Given the description of an element on the screen output the (x, y) to click on. 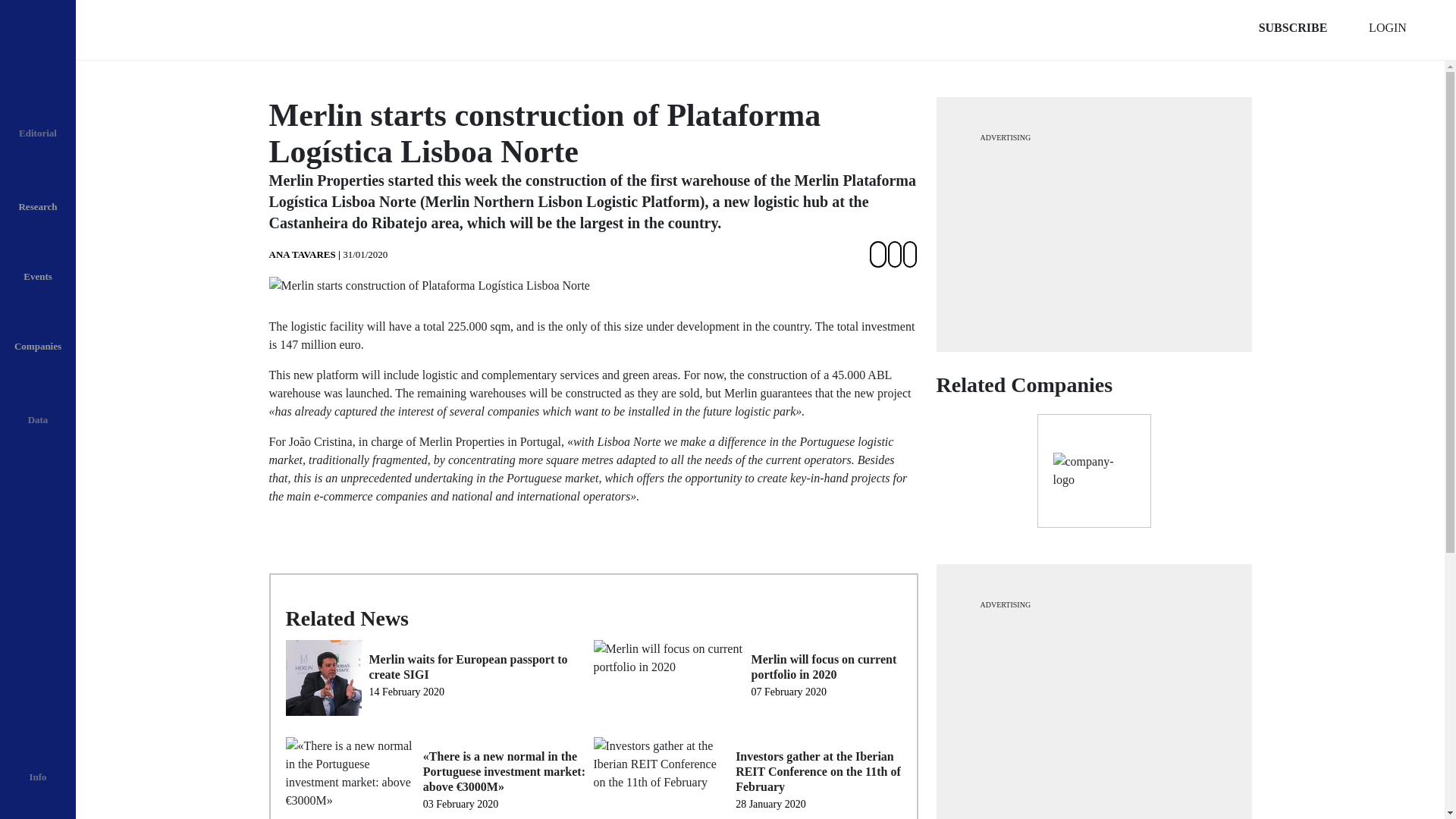
Data (37, 407)
Events (37, 264)
SUBSCRIBE (1292, 27)
Research (37, 194)
Editorial (37, 120)
Companies (37, 333)
LOGIN (1387, 27)
